Given the description of an element on the screen output the (x, y) to click on. 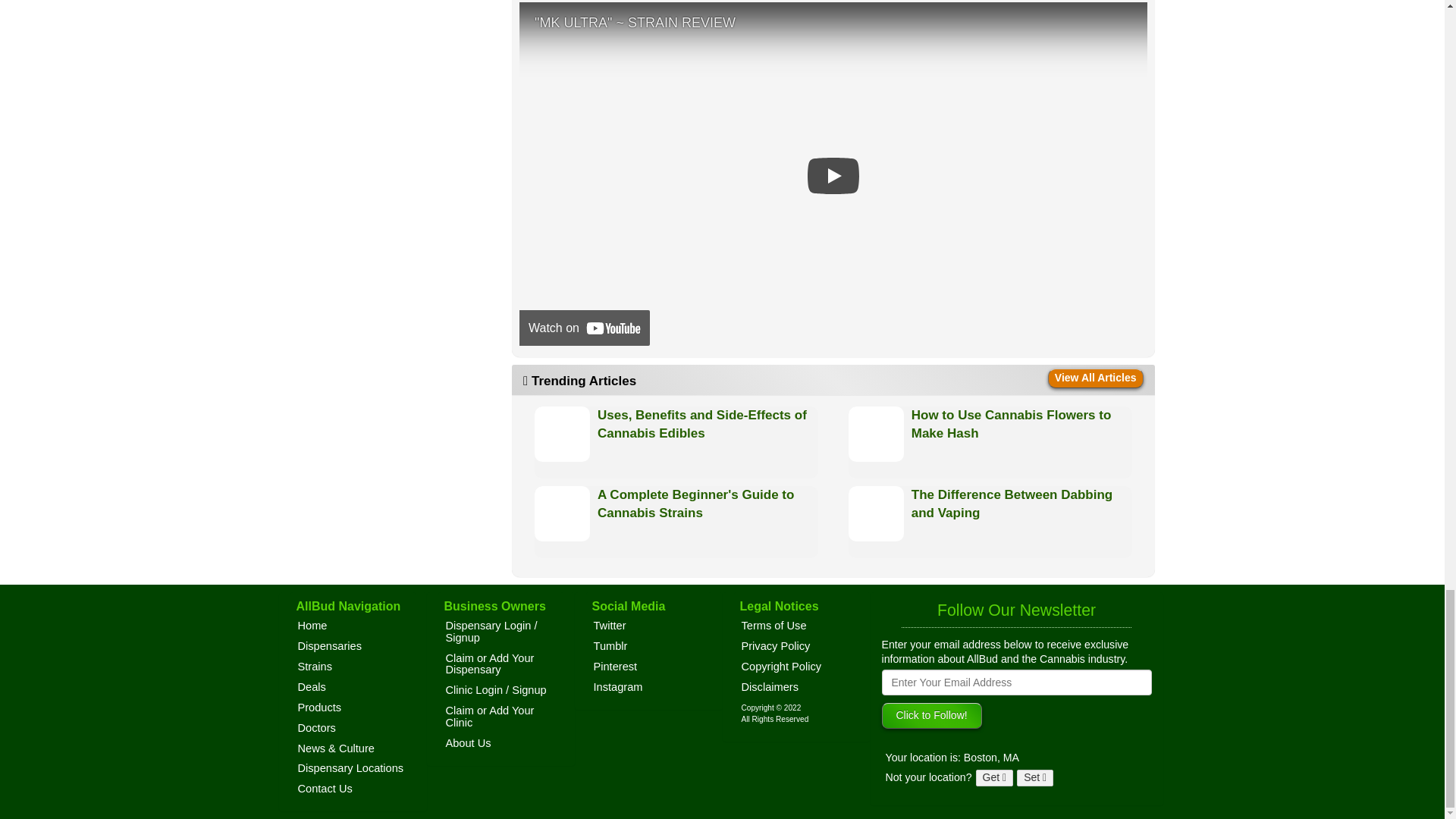
Click to Follow! (930, 715)
